Given the description of an element on the screen output the (x, y) to click on. 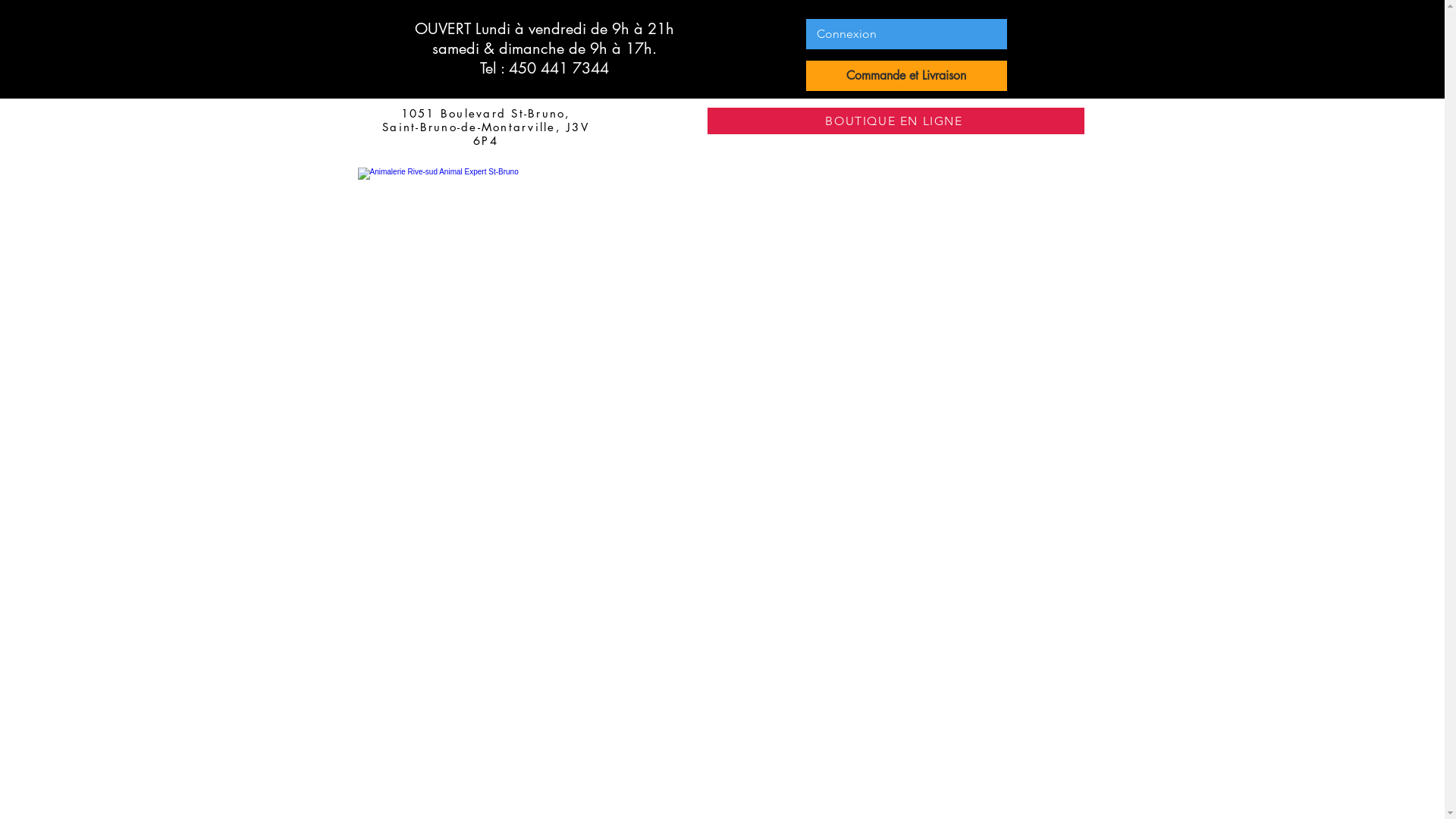
BOUTIQUE EN LIGNE Element type: text (894, 120)
Commande et Livraison Element type: text (905, 75)
Connexion Element type: text (845, 34)
